Given the description of an element on the screen output the (x, y) to click on. 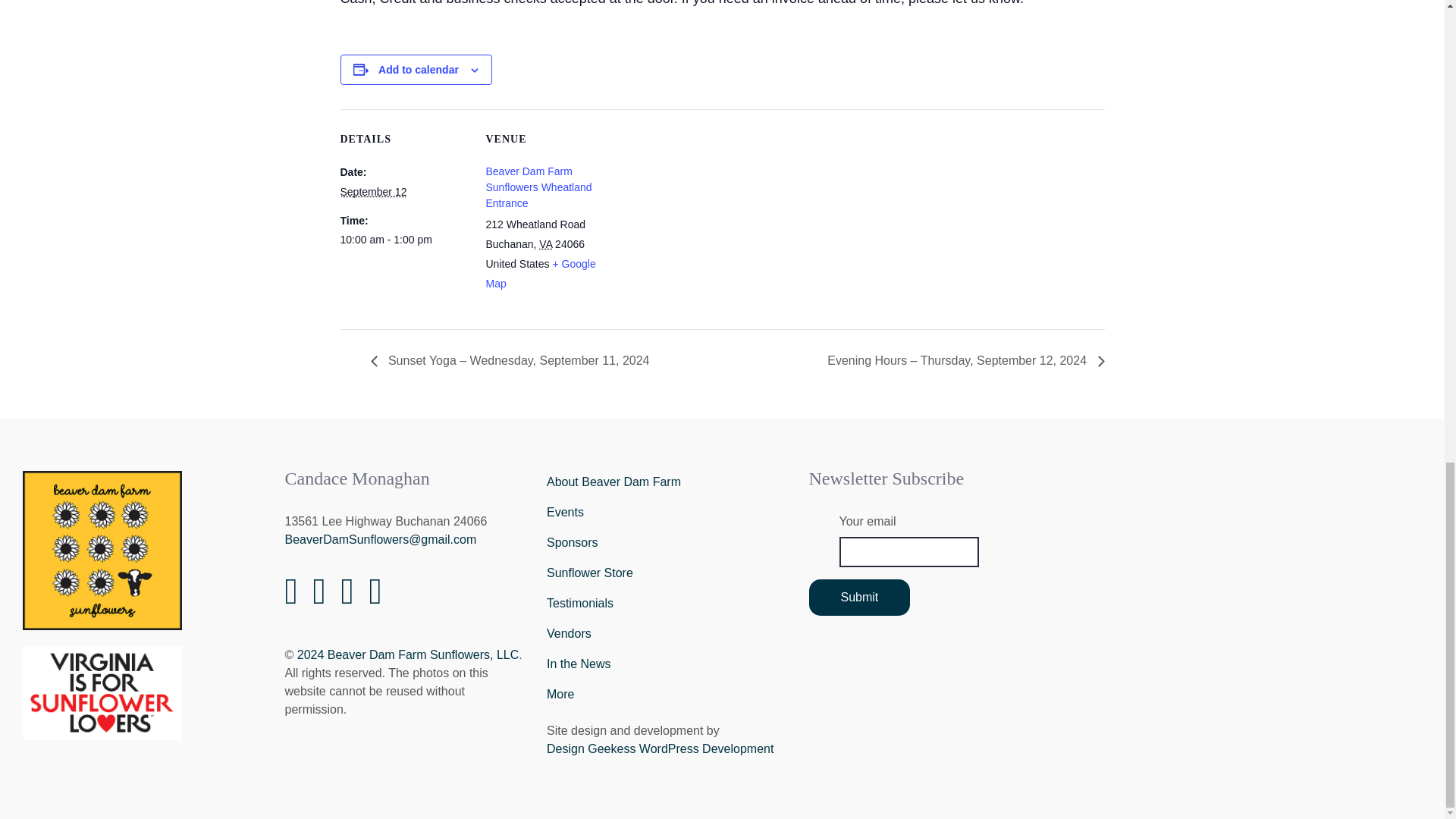
TikTok (374, 599)
Events (666, 512)
About Beaver Dam Farm (666, 481)
2024 Beaver Dam Farm Sunflowers, LLC (408, 654)
Beaver Dam Farm Sunflowers Wheatland Entrance (537, 187)
Instagram (319, 599)
Virginia (544, 244)
Sunflower Store (666, 572)
2024-09-12 (372, 191)
Youtube (346, 599)
